Given the description of an element on the screen output the (x, y) to click on. 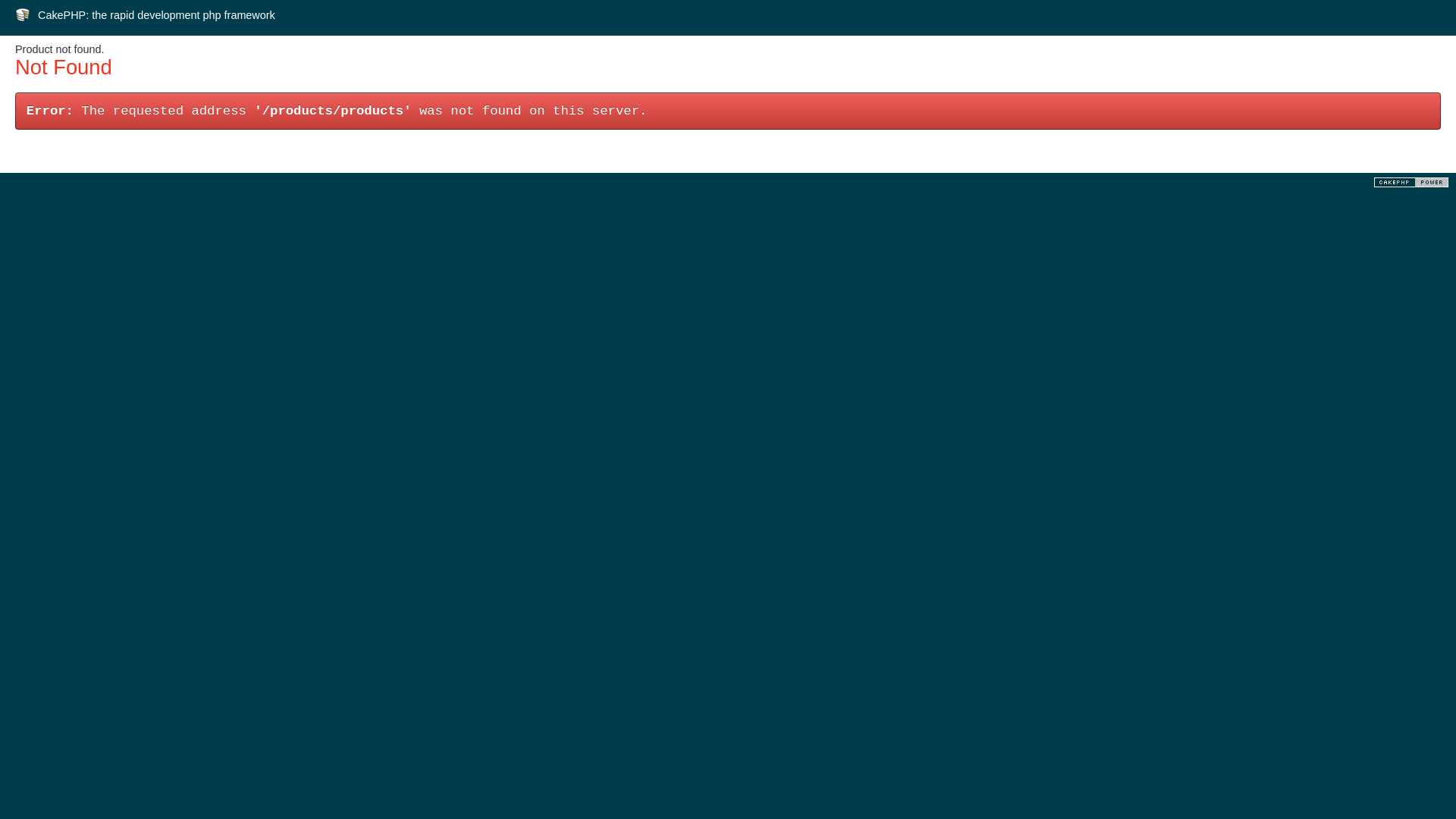
CakePHP: the rapid development php framework Element type: text (156, 15)
